Given the description of an element on the screen output the (x, y) to click on. 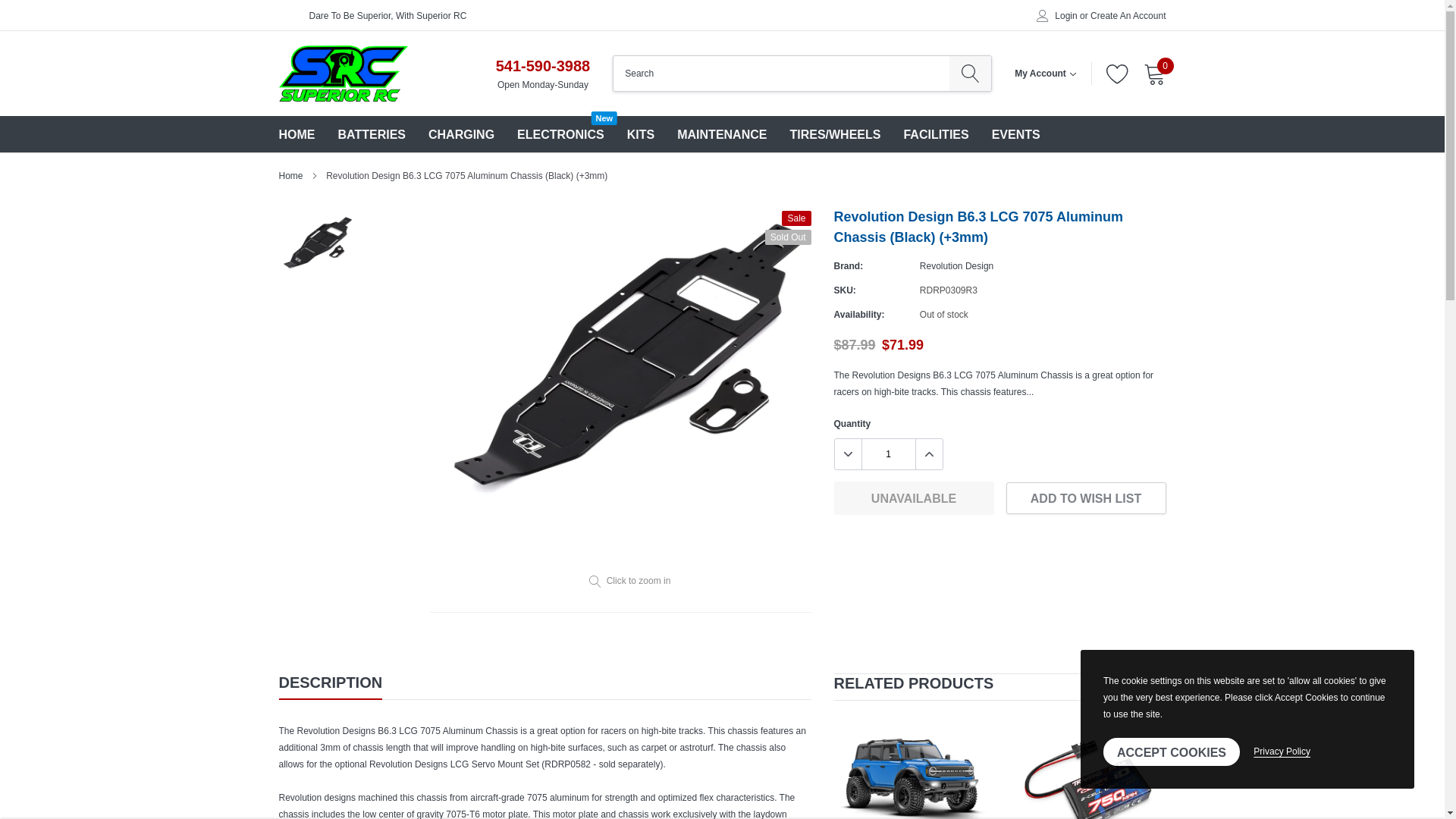
My Account (1044, 72)
Login (1065, 15)
HOME (297, 133)
CHARGING (461, 133)
541-590-3988 (543, 65)
search (970, 73)
0 (1154, 73)
Revolution Design (956, 266)
1 (887, 453)
BATTERIES (371, 133)
Create An Account (560, 133)
